Given the description of an element on the screen output the (x, y) to click on. 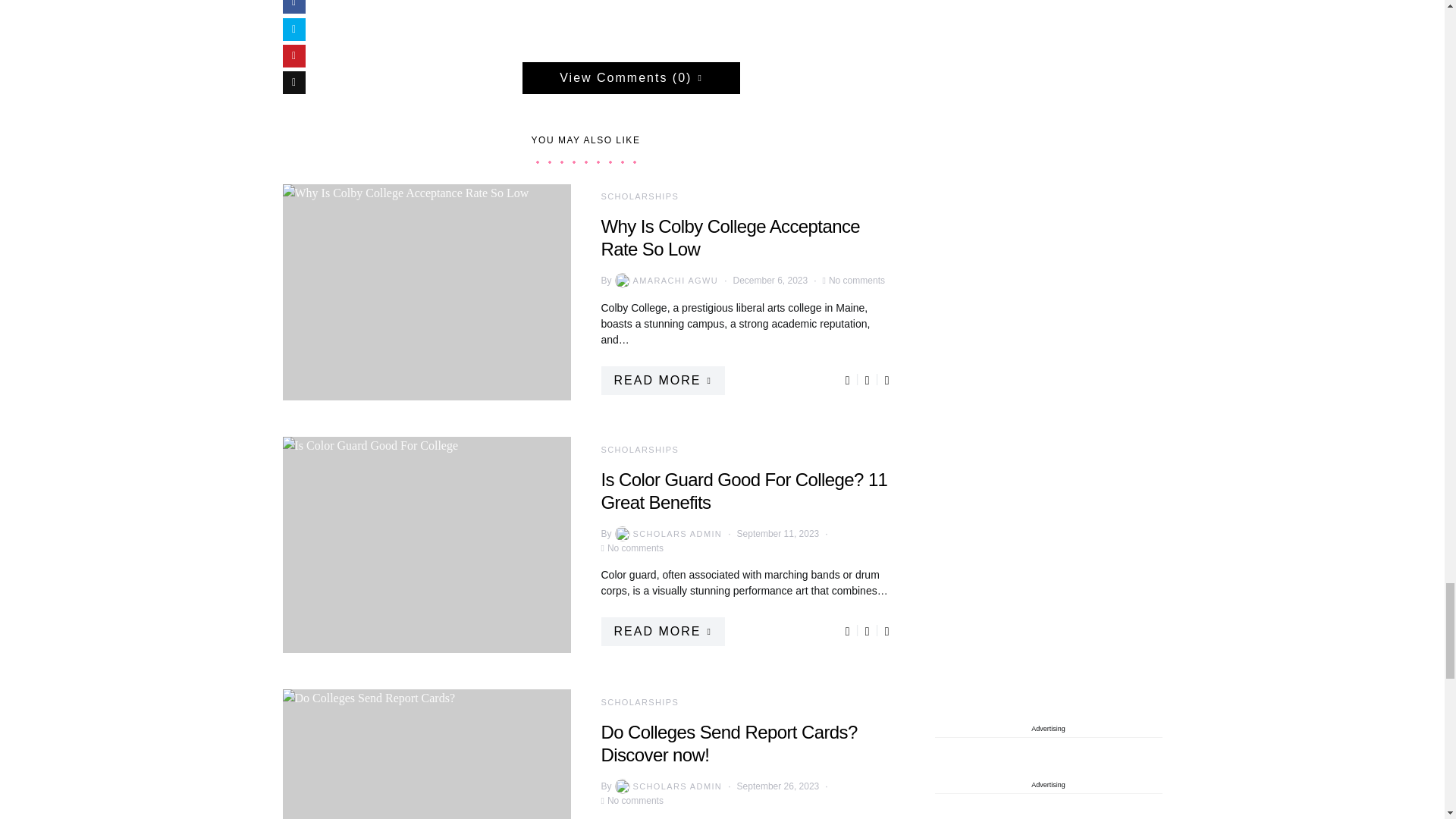
View all posts by Amarachi Agwu (665, 280)
View all posts by Scholars Admin (666, 785)
View all posts by Scholars Admin (666, 533)
